Given the description of an element on the screen output the (x, y) to click on. 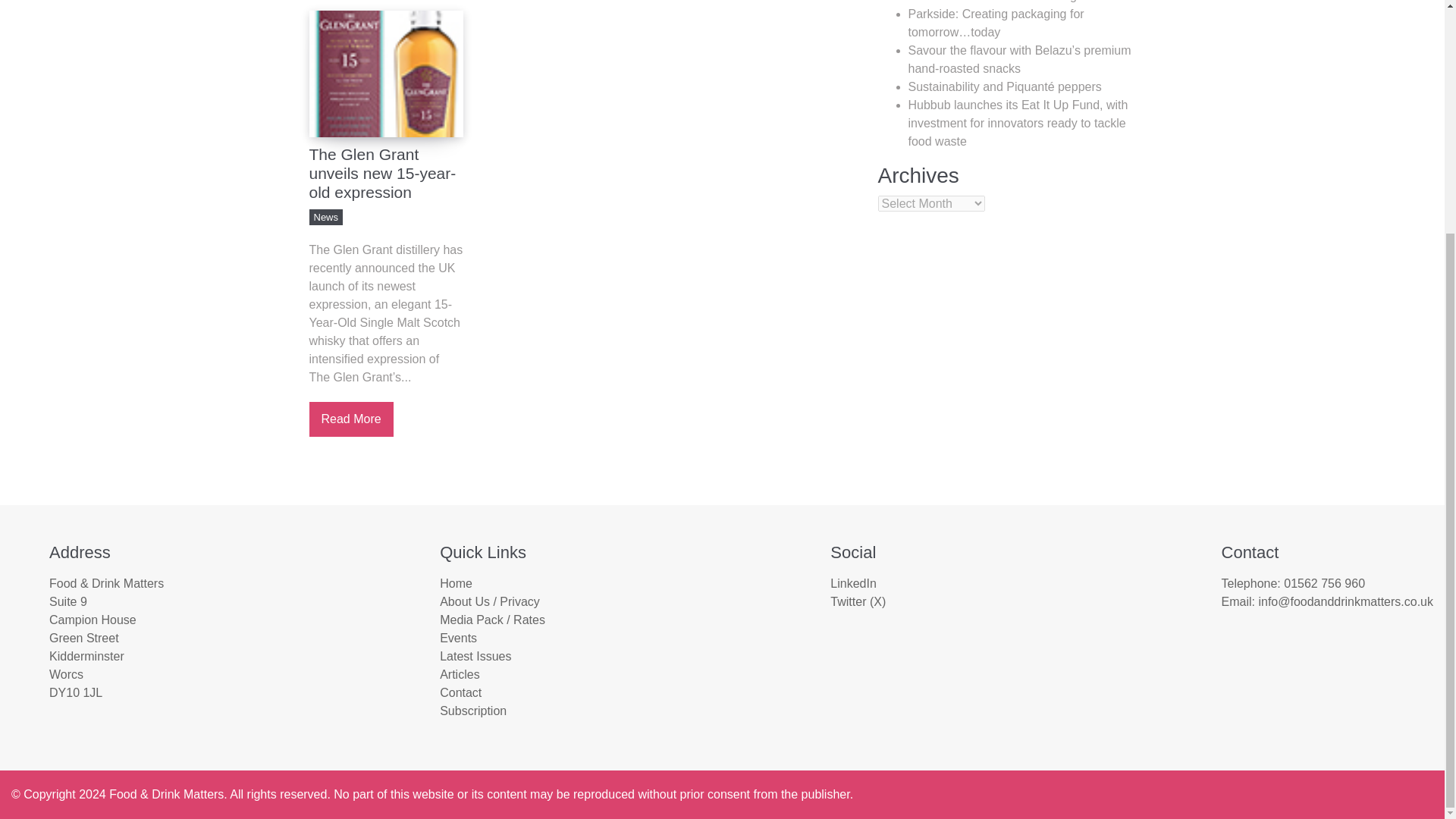
News (325, 217)
The Glen Grant unveils new 15-year-old expression (385, 173)
Home (455, 583)
Read More (350, 419)
